Given the description of an element on the screen output the (x, y) to click on. 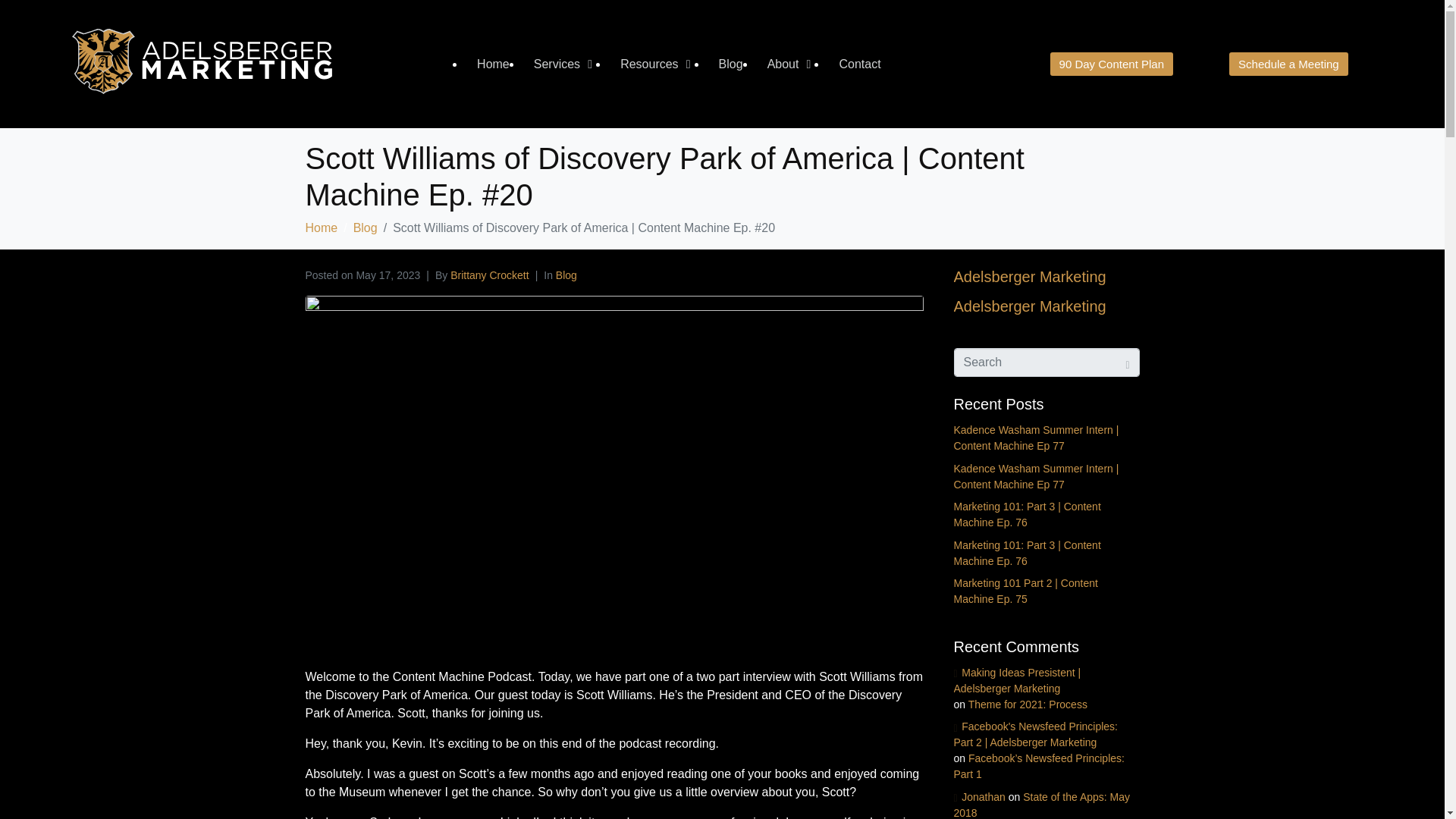
Home (320, 227)
Resources (649, 64)
Schedule a Meeting (1288, 64)
Services (556, 64)
90 Day Content Plan (1111, 64)
Home (493, 64)
Brittany Crockett (488, 275)
Blog (566, 275)
About (783, 64)
Blog (365, 227)
